Given the description of an element on the screen output the (x, y) to click on. 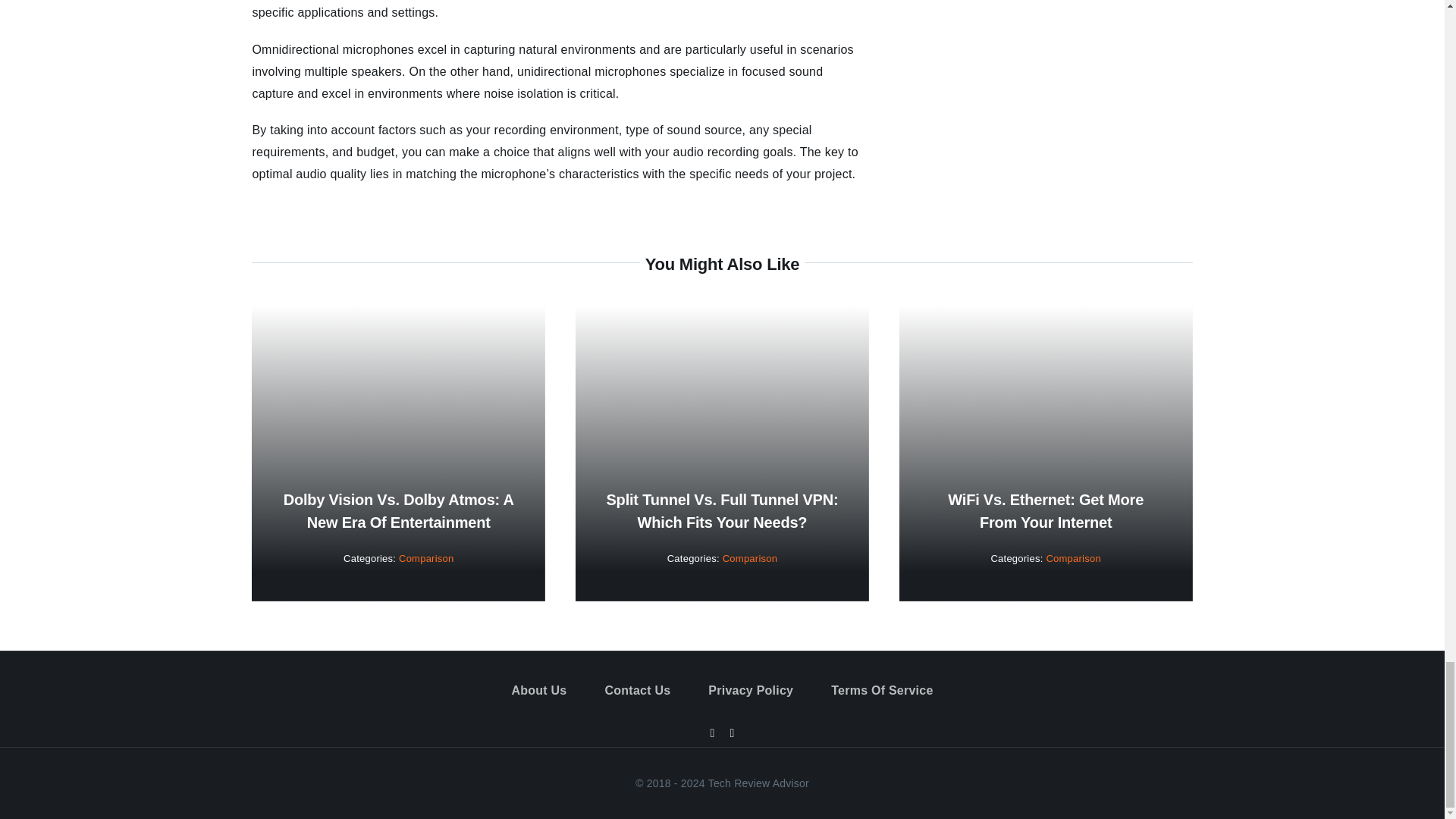
Dolby Vision Vs. Dolby Atmos: A New Era Of Entertainment (398, 510)
Comparison (749, 558)
Comparison (426, 558)
Split Tunnel Vs. Full Tunnel VPN: Which Fits Your Needs? (721, 510)
Comparison (1072, 558)
WiFi Vs. Ethernet: Get More From Your Internet (1044, 510)
